Given the description of an element on the screen output the (x, y) to click on. 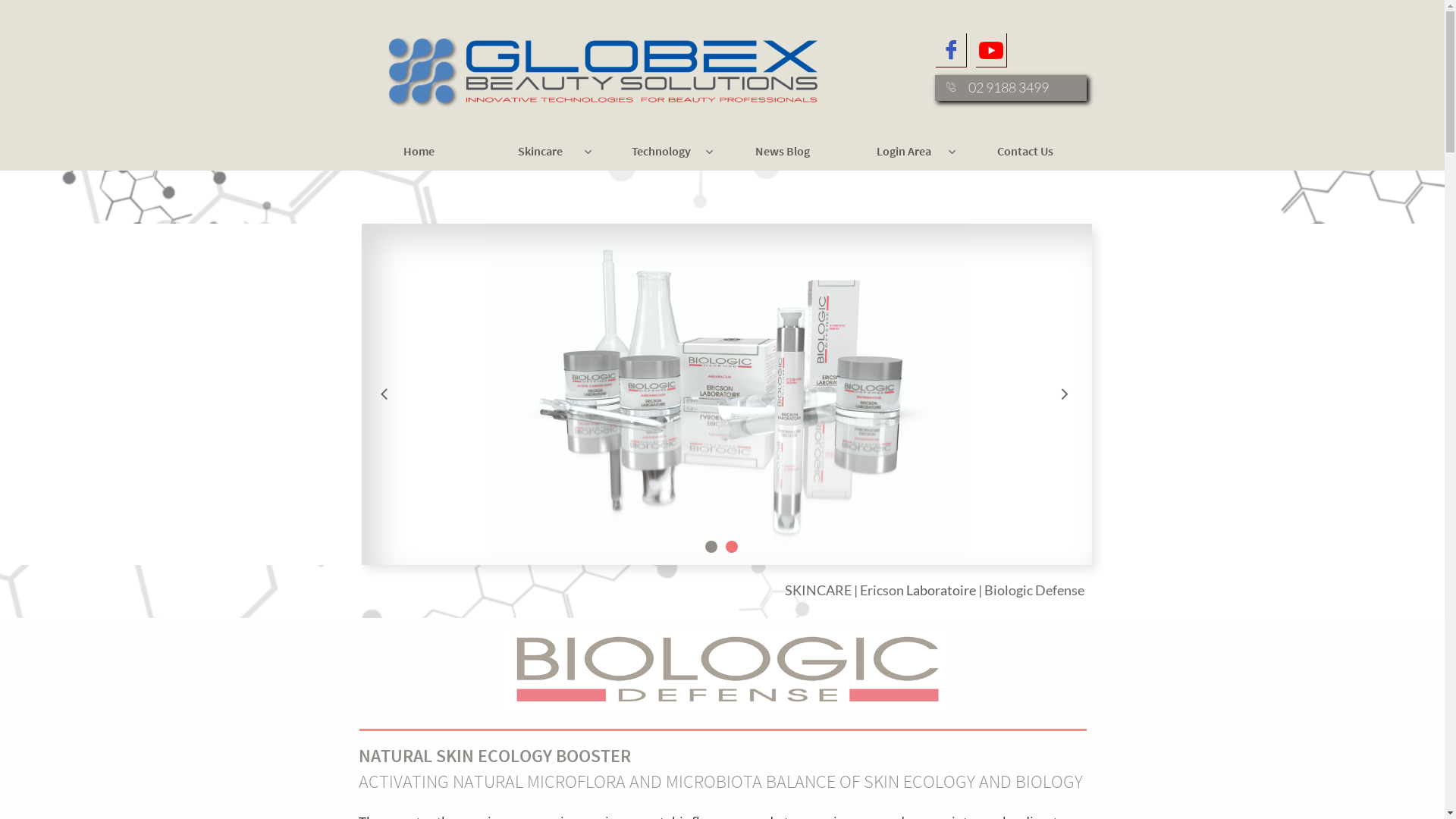
Technology Element type: text (661, 151)
News Blog Element type: text (782, 151)
Skincare Element type: text (539, 151)
Home Element type: text (418, 151)
Login Area Element type: text (903, 151)
Contact Us Element type: text (1025, 151)
